Given the description of an element on the screen output the (x, y) to click on. 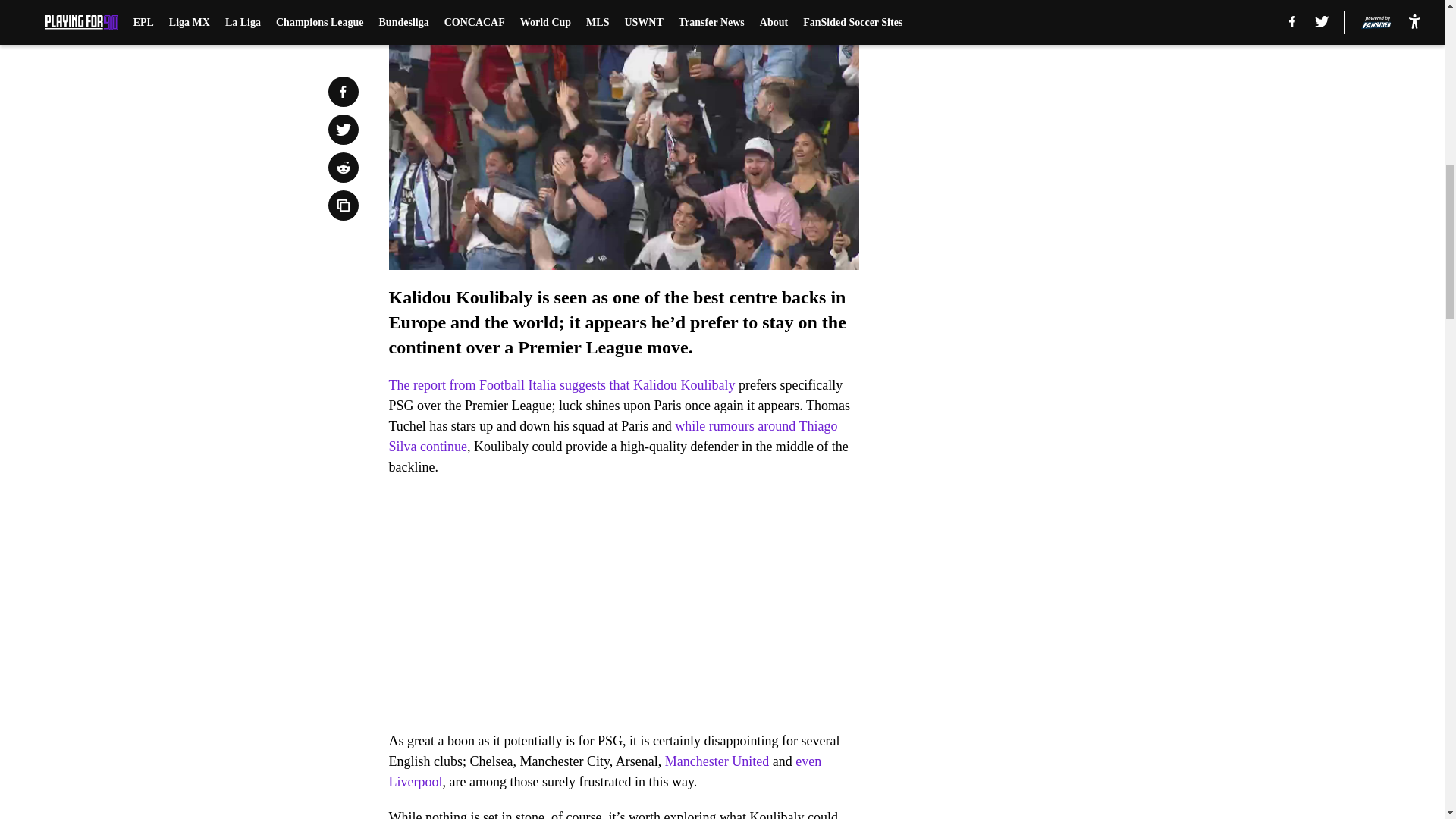
3rd party ad content (1047, 100)
Manchester United (716, 761)
Kalidou Koulibaly (684, 385)
The report from Football Italia suggests that (509, 385)
even Liverpool (604, 771)
3rd party ad content (1047, 320)
while rumours around Thiago Silva continue (612, 436)
